Given the description of an element on the screen output the (x, y) to click on. 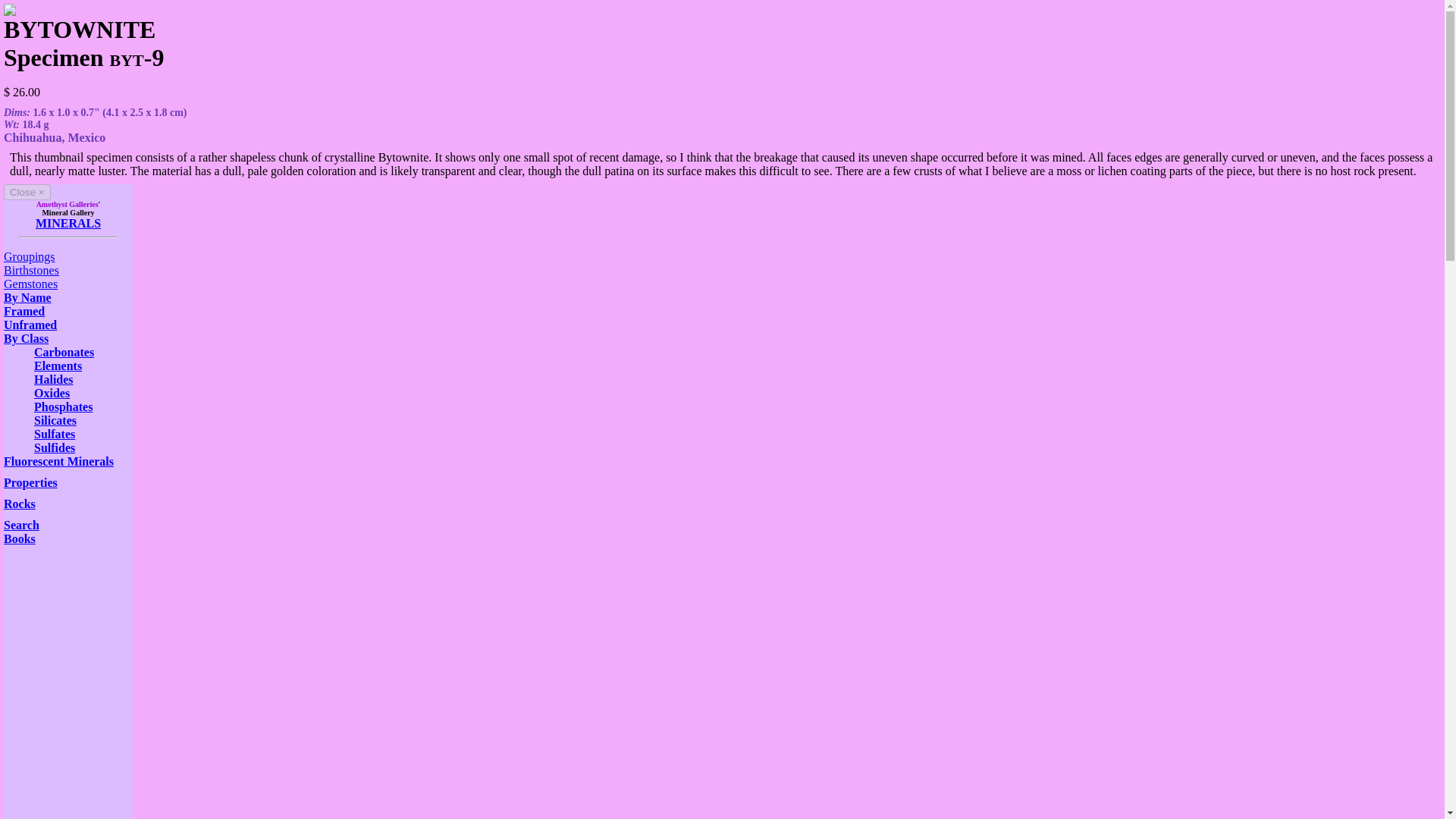
Books (19, 538)
Fluorescent Minerals (58, 461)
Mineralogical Class - ie, Chemistry (26, 338)
Unframed (30, 324)
A list of the gemstone varieties of various minerals (31, 283)
Sulfates (54, 433)
Framed (24, 310)
A framed list of minerals in alphabetical order (24, 310)
Return to Amethyst Galleries Mineral Gallery Home Page (67, 223)
A list of minerals in alphabetical order (30, 324)
Birthstones (31, 269)
Groupings (29, 256)
Lists the commonly recognized birthstones by calendar month (31, 269)
Silicates (55, 420)
Carbonates (63, 351)
